Given the description of an element on the screen output the (x, y) to click on. 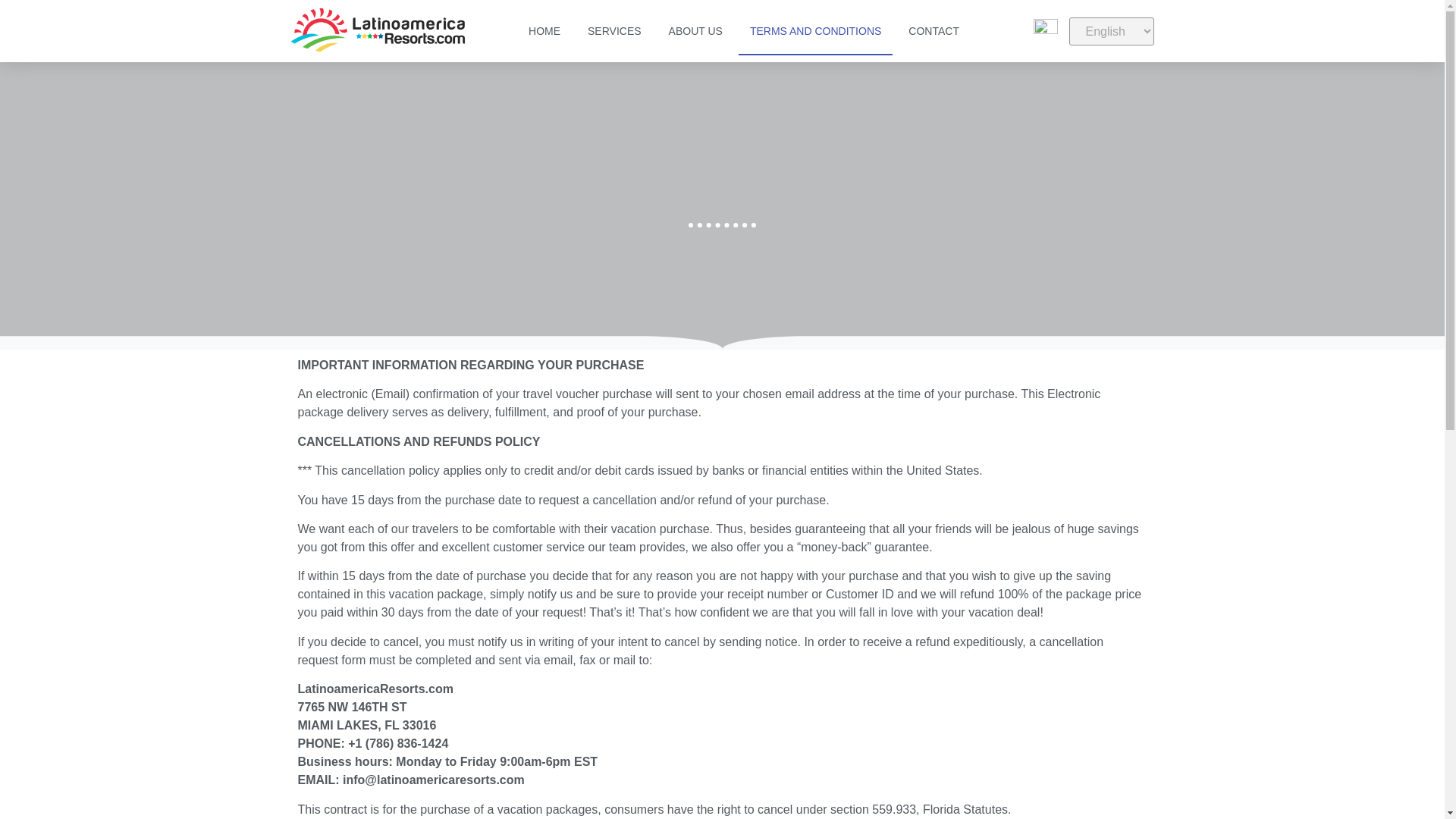
CONTACT (933, 30)
SERVICES (614, 30)
ABOUT US (695, 30)
HOME (544, 30)
TERMS AND CONDITIONS (815, 30)
